Given the description of an element on the screen output the (x, y) to click on. 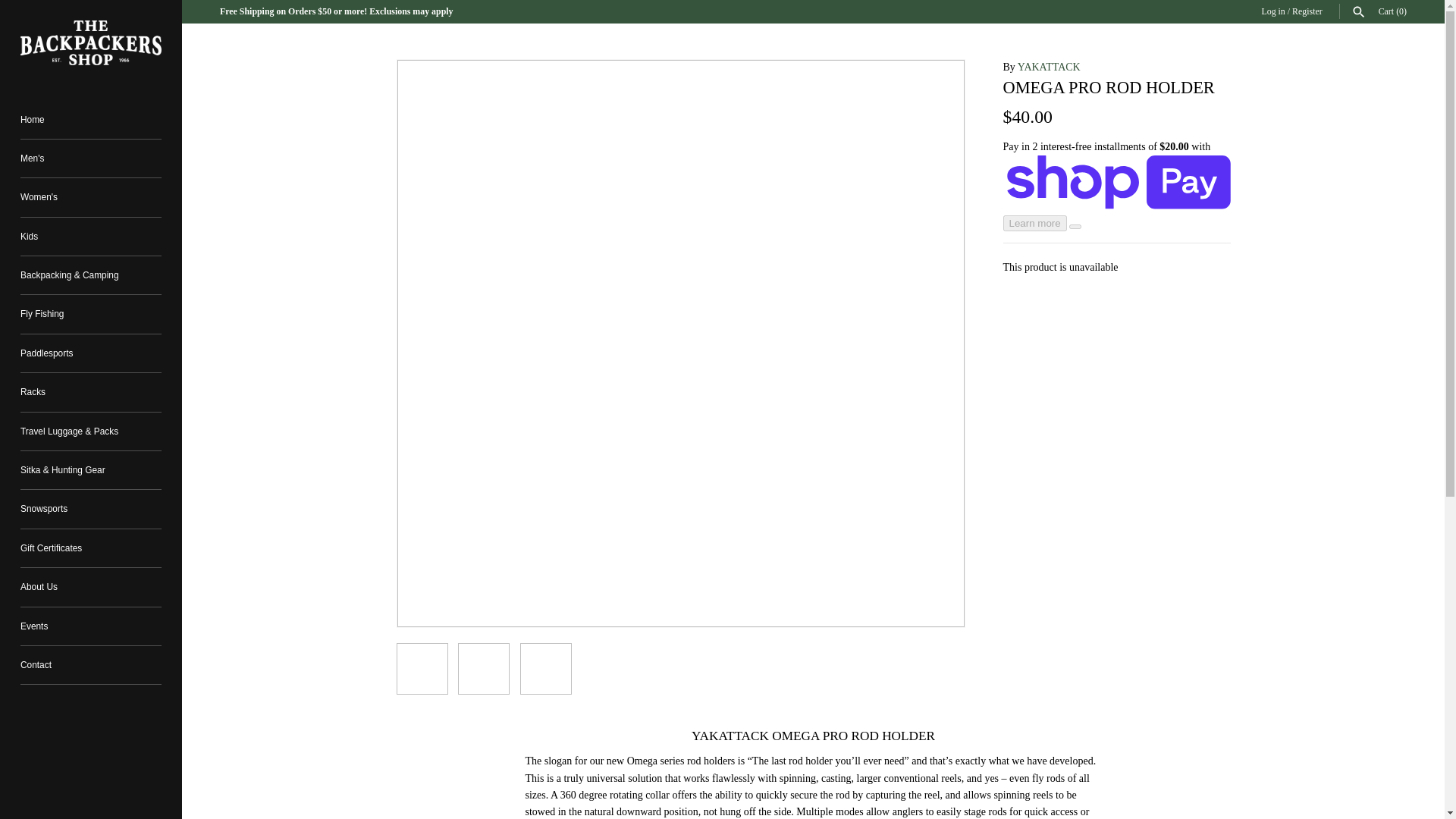
Home (90, 118)
The Backpackers Shop (91, 42)
Men's (90, 158)
Log in (1272, 10)
Register (1307, 10)
